Given the description of an element on the screen output the (x, y) to click on. 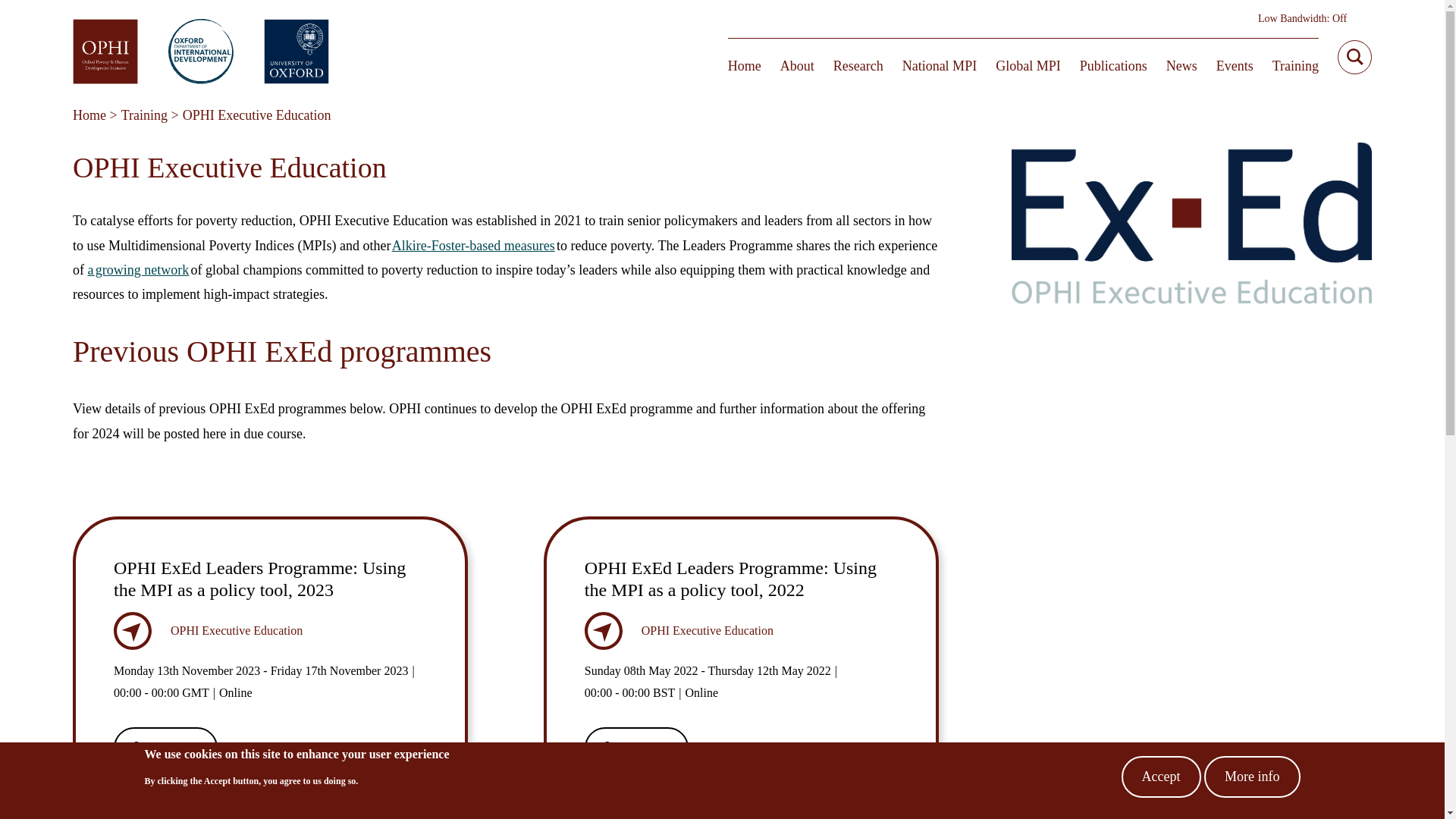
Search (1356, 56)
Research (857, 65)
About (796, 65)
Home (744, 65)
Global MPI (1028, 65)
ExEd logo (1192, 216)
National MPI (939, 65)
